Given the description of an element on the screen output the (x, y) to click on. 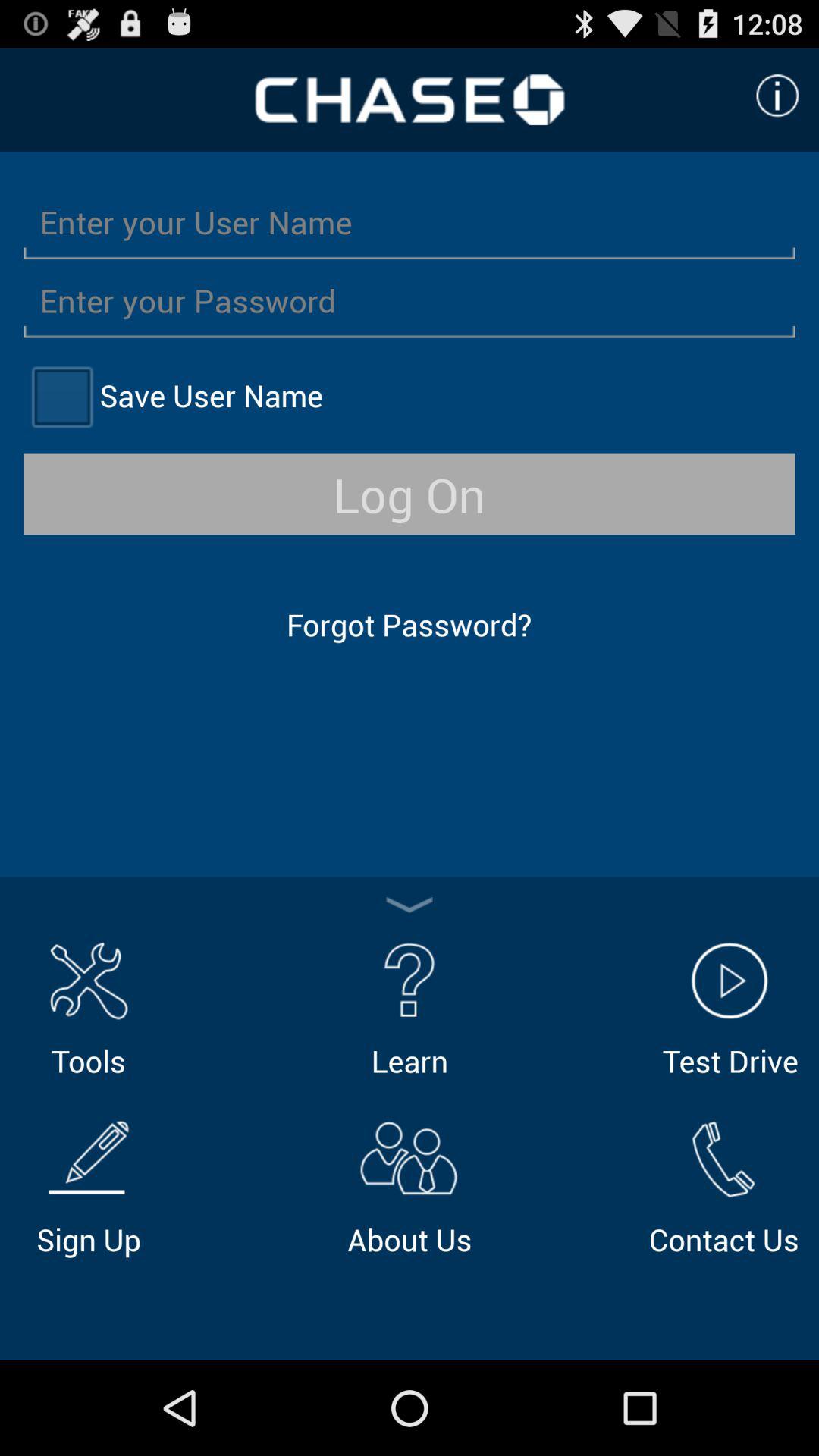
save for future (61, 395)
